Given the description of an element on the screen output the (x, y) to click on. 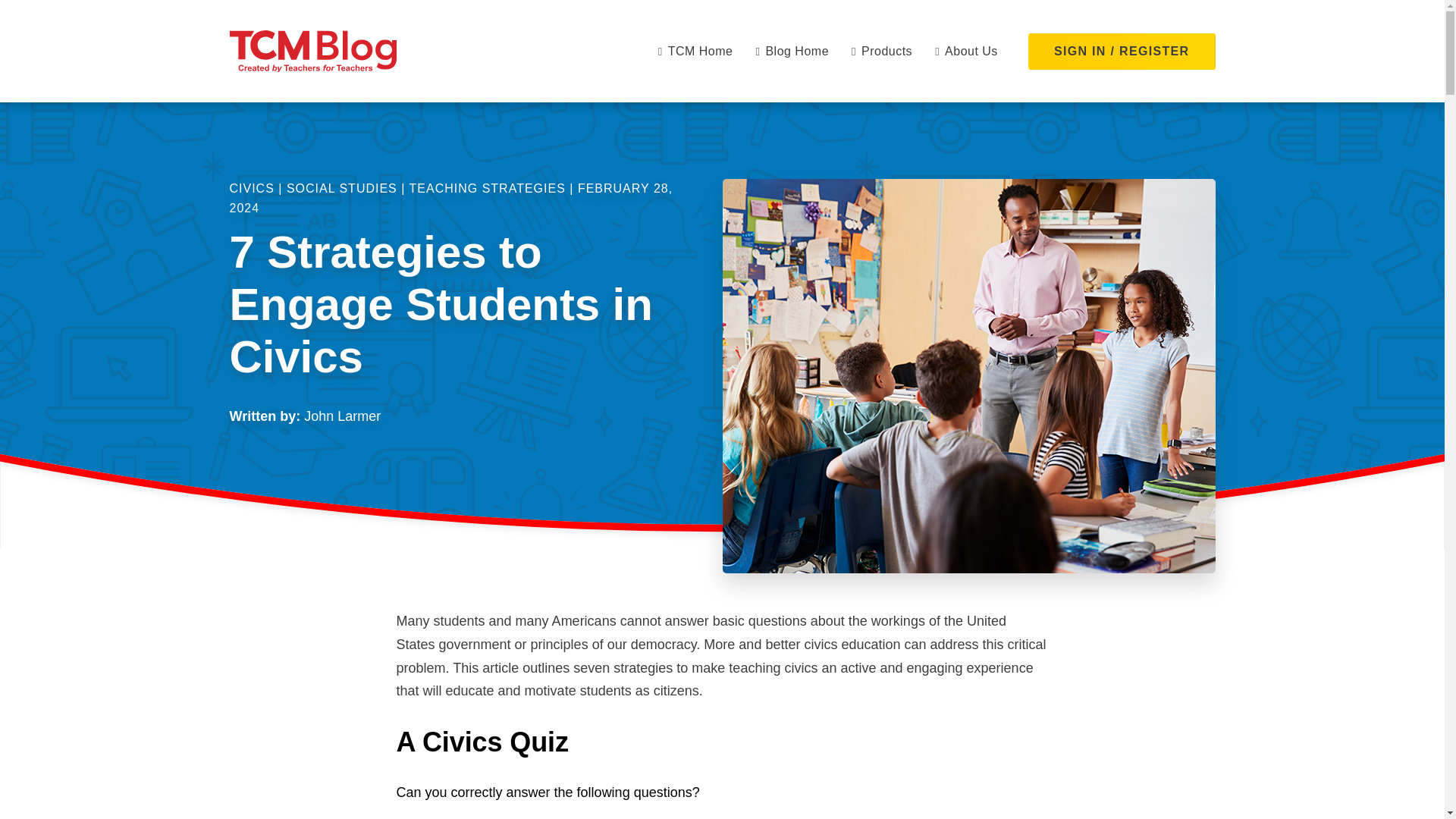
John Larmer (342, 416)
TEACHING STRATEGIES (487, 187)
SOCIAL STUDIES (341, 187)
CIVICS (250, 187)
